Given the description of an element on the screen output the (x, y) to click on. 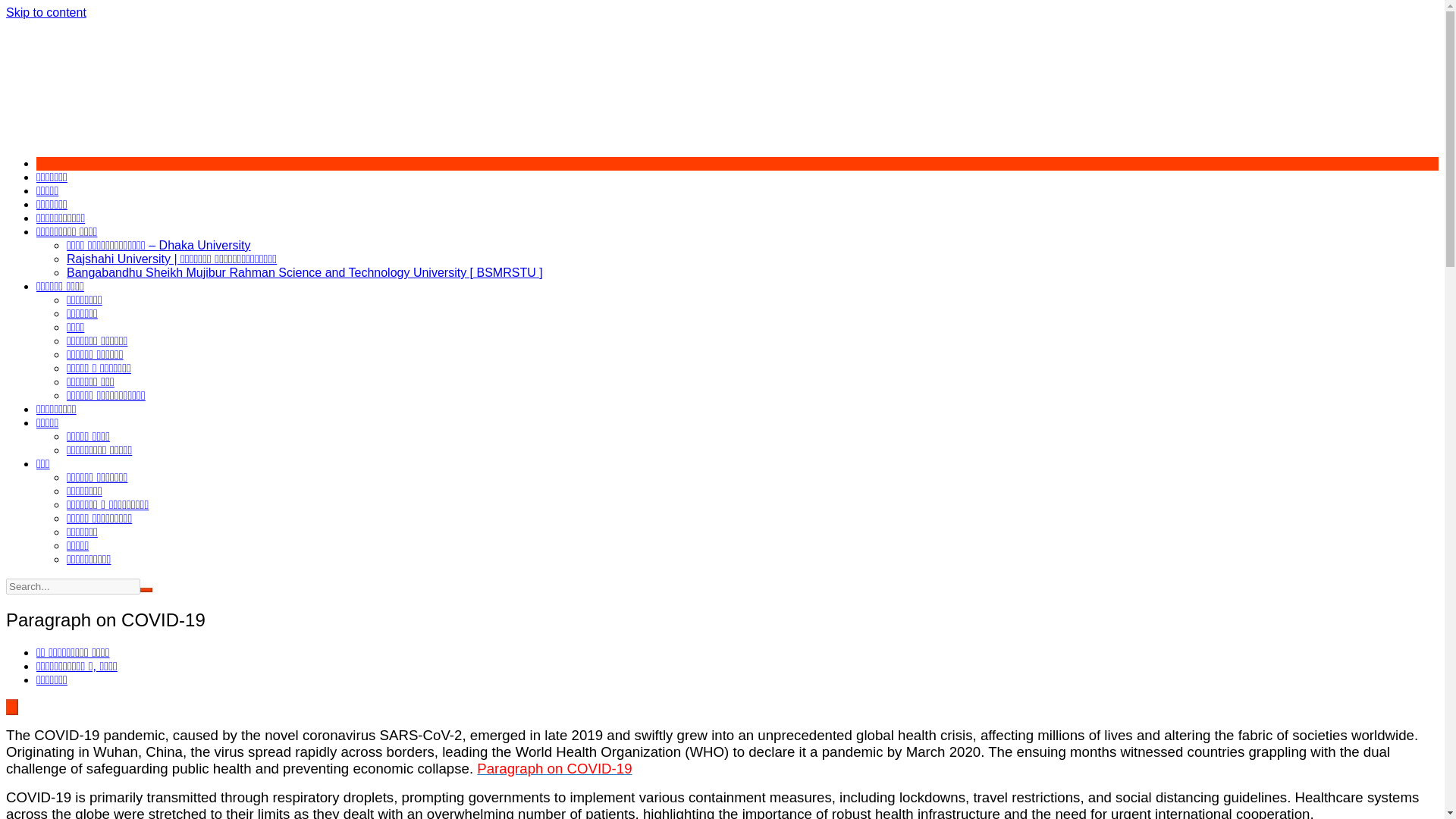
Skip to content (45, 11)
Paragraph on COVID-19 (554, 768)
